Given the description of an element on the screen output the (x, y) to click on. 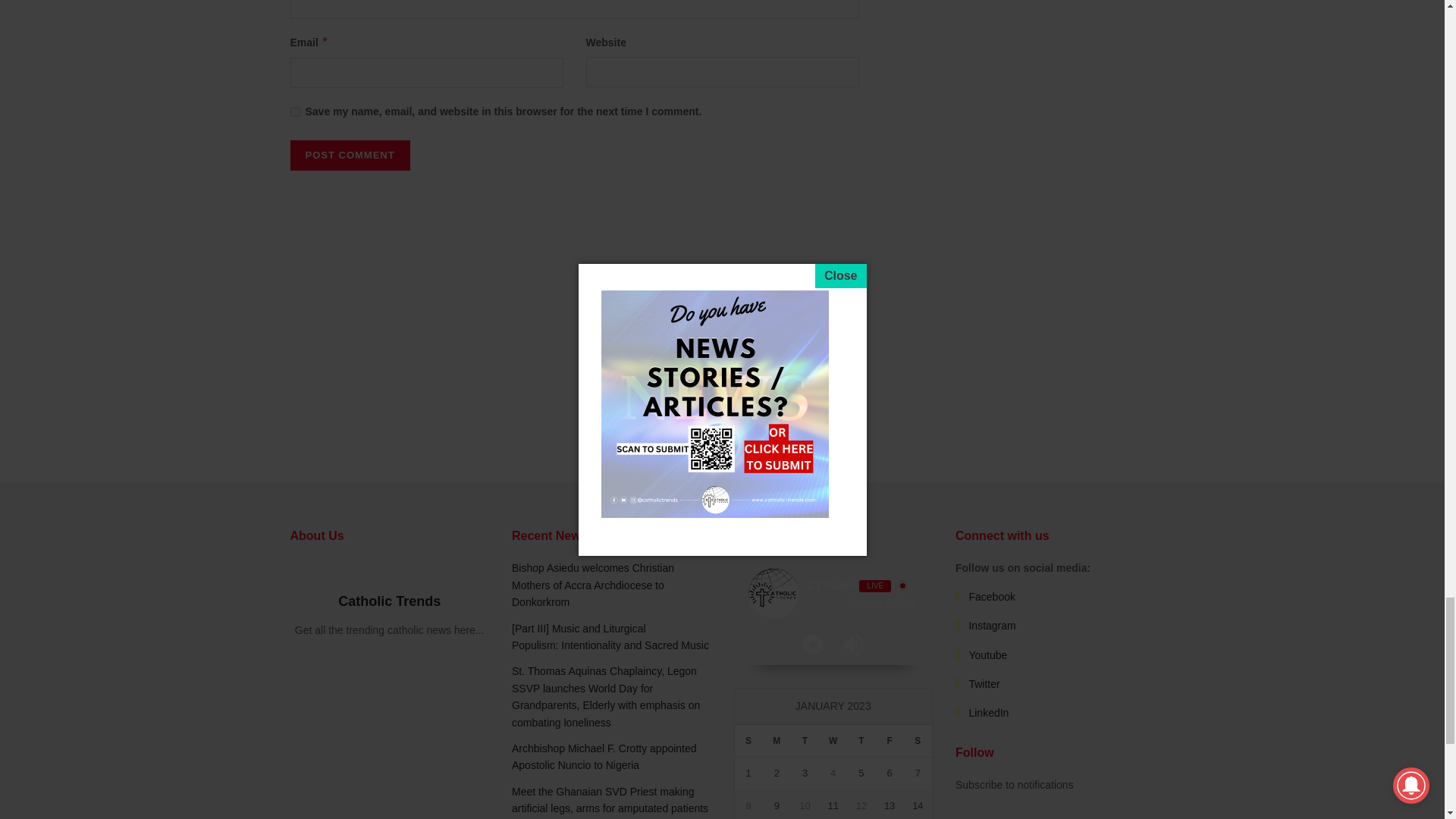
Post Comment (349, 155)
yes (294, 112)
Play (812, 644)
